Given the description of an element on the screen output the (x, y) to click on. 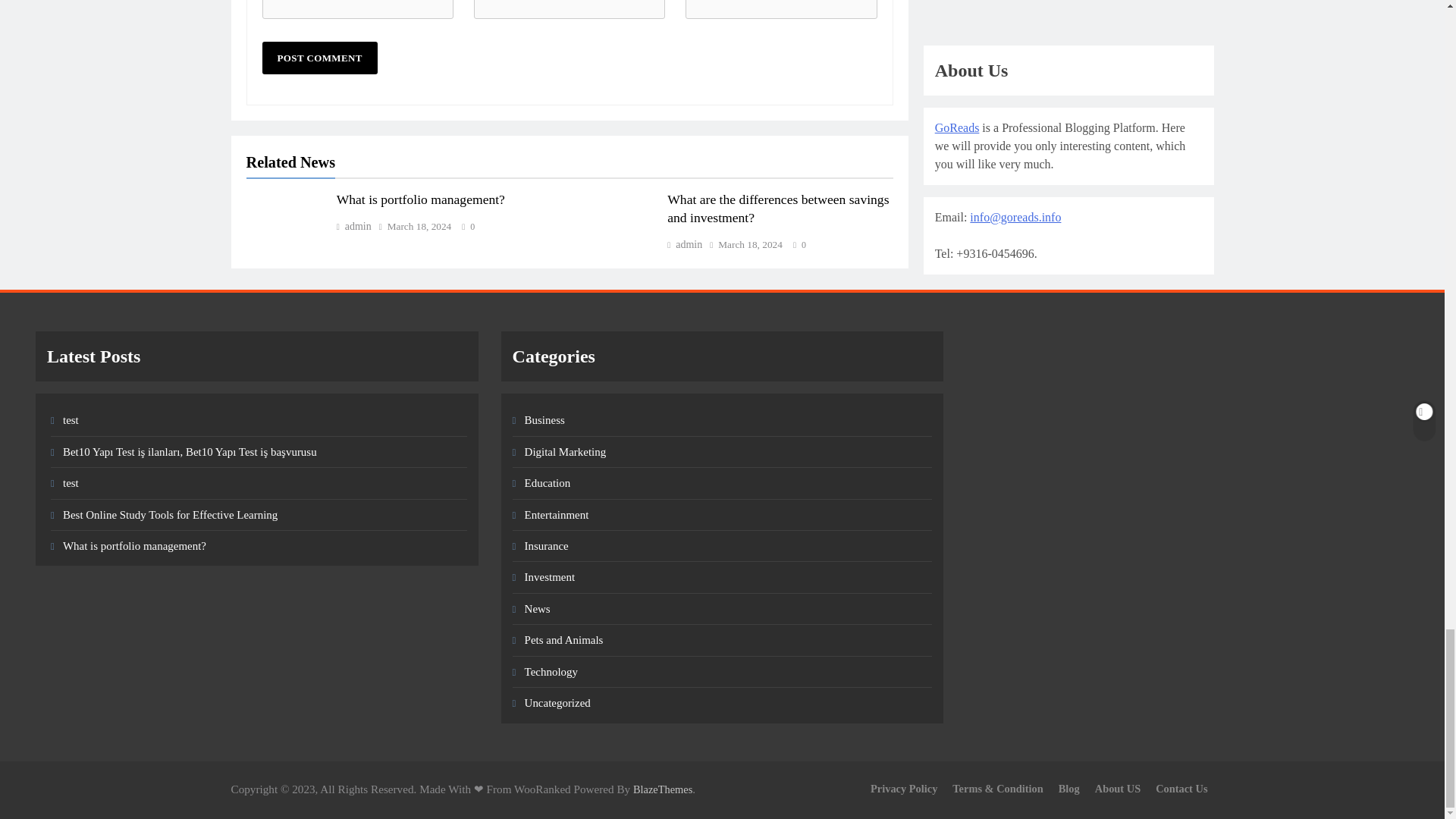
Post Comment (319, 57)
